Given the description of an element on the screen output the (x, y) to click on. 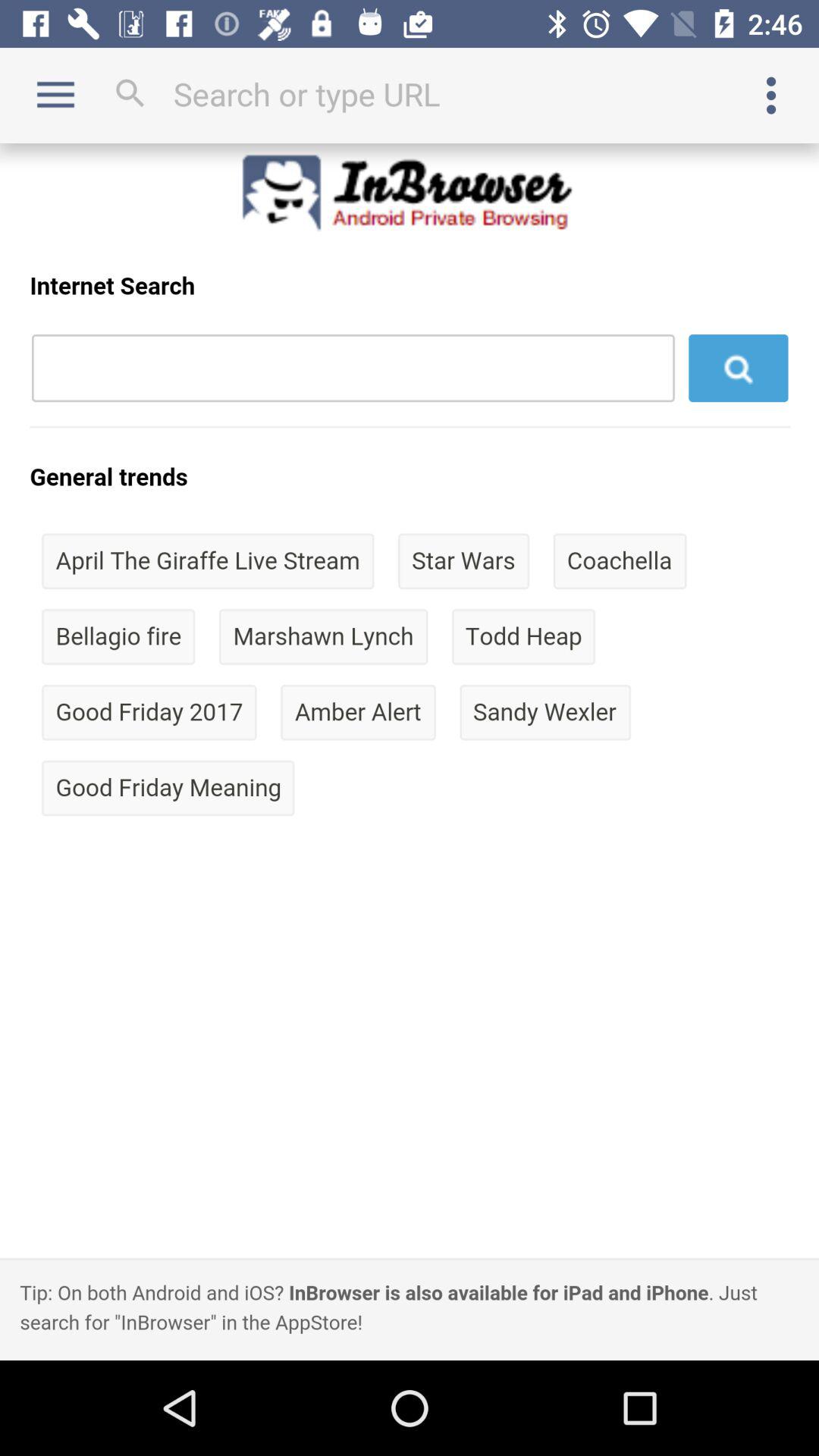
go to search opption (409, 94)
